Given the description of an element on the screen output the (x, y) to click on. 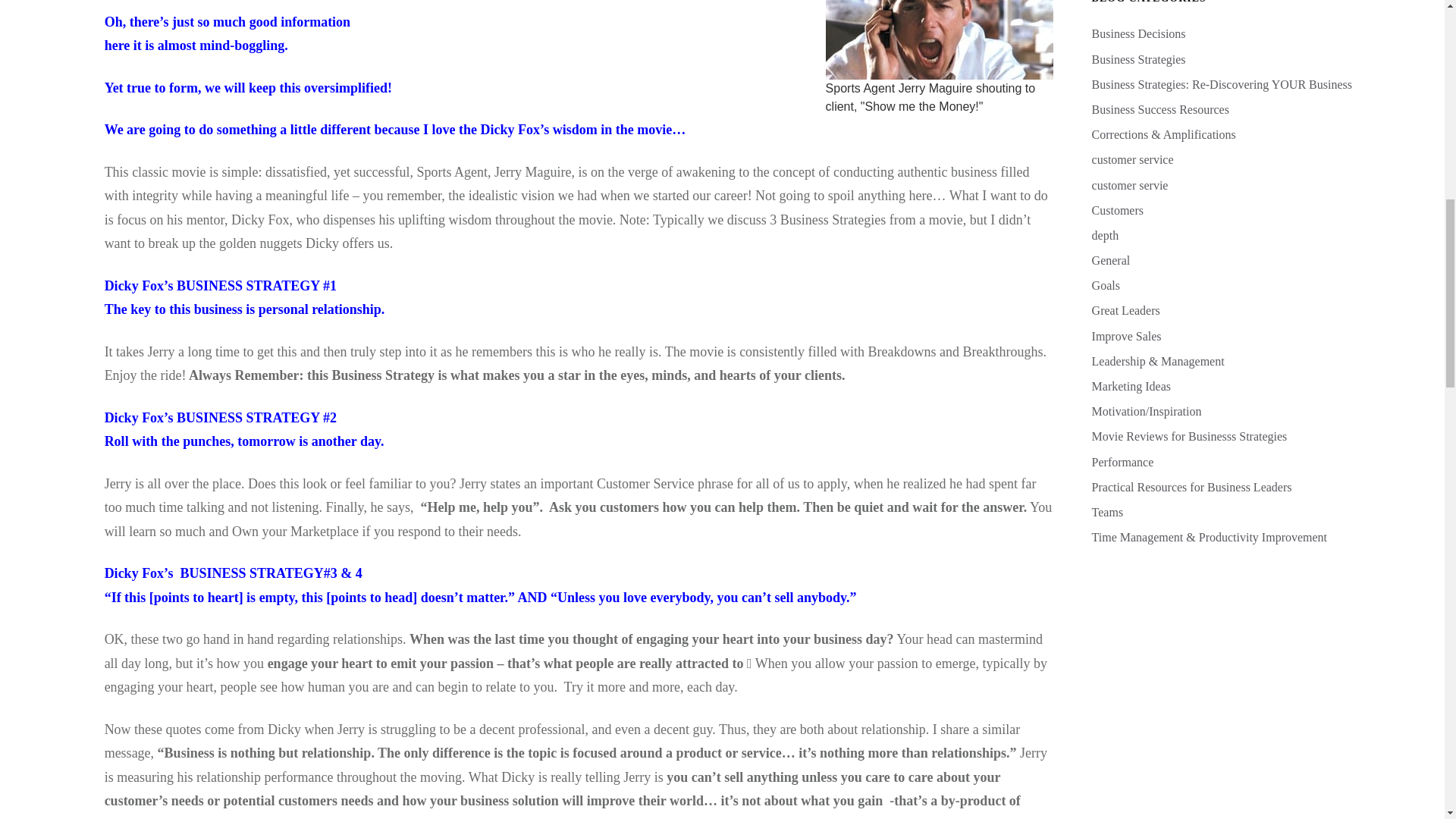
Jerry Maguire, "Show me the money!" Image by hark.com (938, 39)
